Given the description of an element on the screen output the (x, y) to click on. 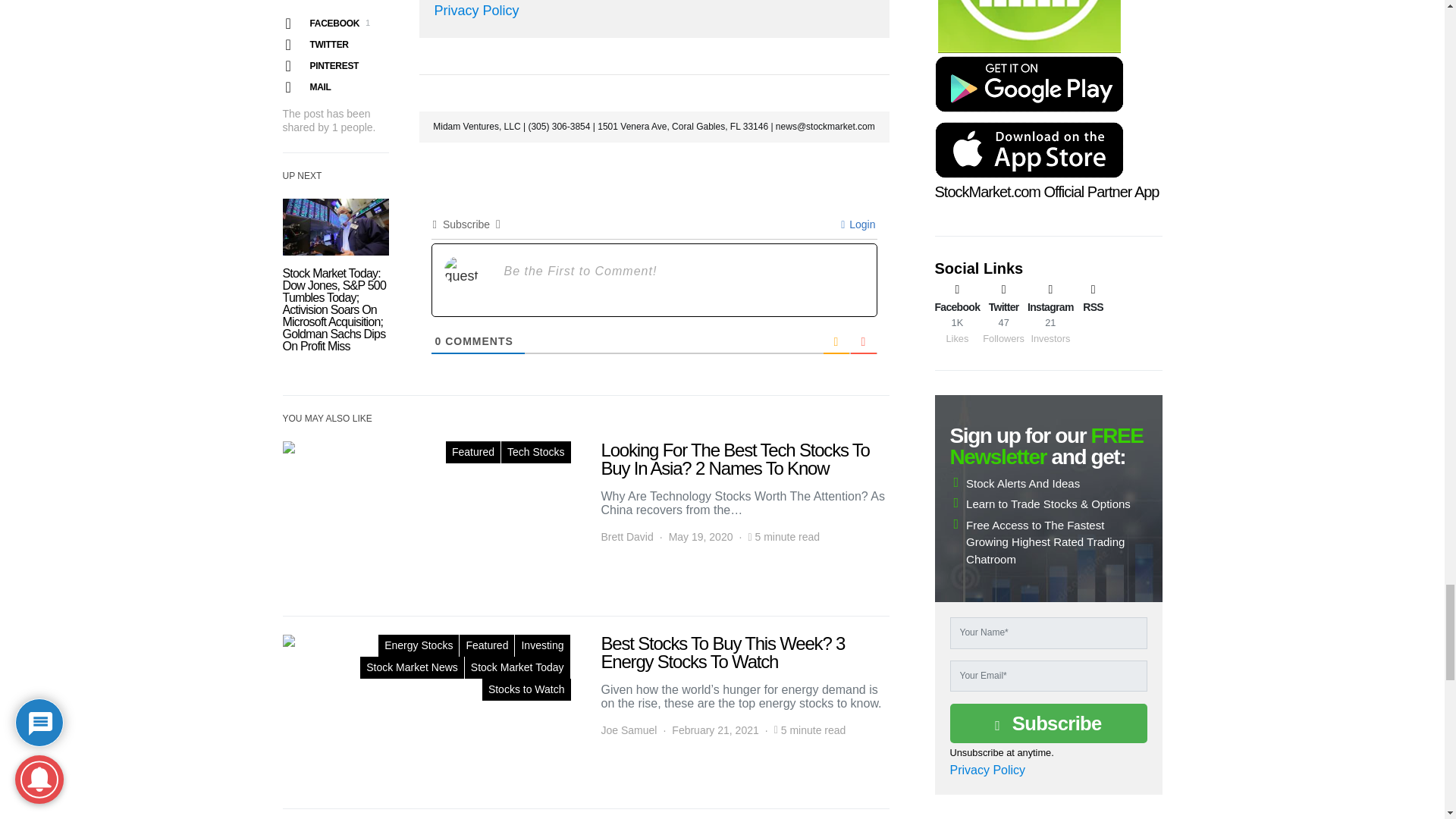
View all posts by Joe Samuel (627, 730)
View all posts by Brett David (625, 537)
